Given the description of an element on the screen output the (x, y) to click on. 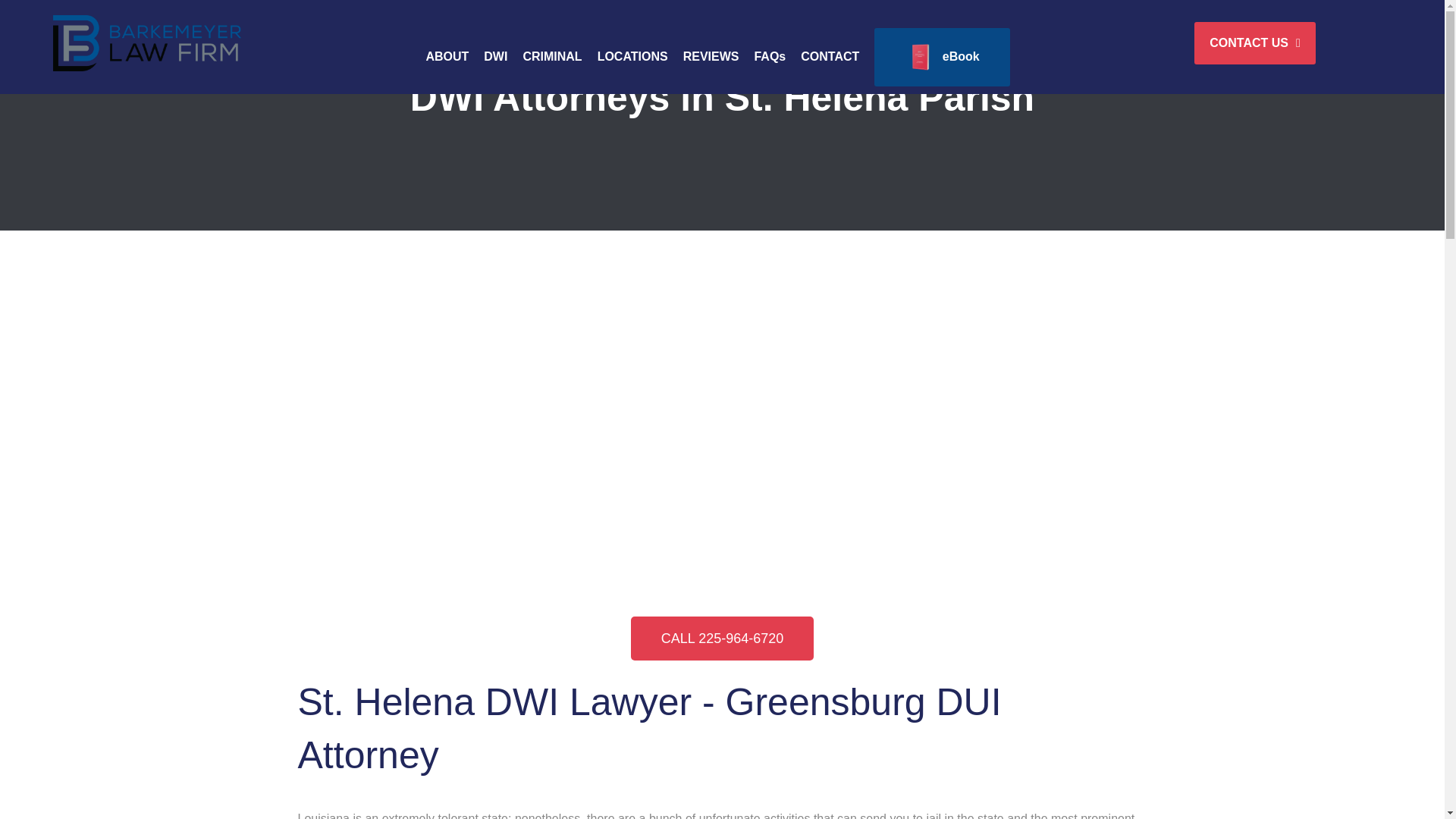
LOCATIONS (632, 56)
CRIMINAL (552, 56)
CALL 225-964-6720 (721, 638)
ABOUT (446, 56)
CONTACT (829, 56)
CONTACT US (1254, 43)
REVIEWS (710, 56)
eBook (941, 56)
